Given the description of an element on the screen output the (x, y) to click on. 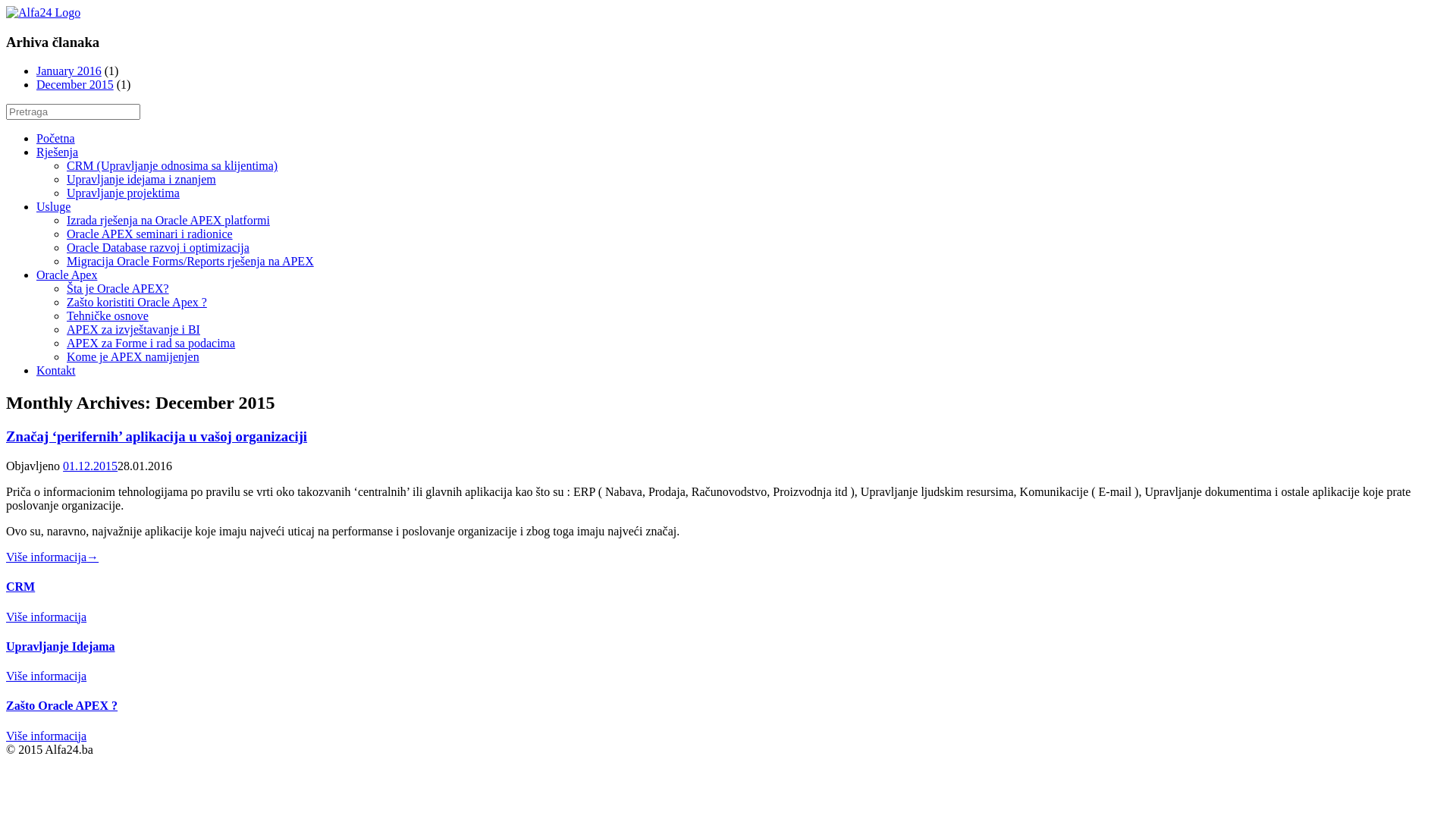
01.12.2015 Element type: text (89, 465)
APEX za Forme i rad sa podacima Element type: text (150, 342)
Oracle APEX seminari i radionice Element type: text (149, 233)
Kontakt Element type: text (55, 370)
Usluge Element type: text (53, 206)
Oracle Database razvoj i optimizacija Element type: text (157, 247)
Upravljanje Idejama Element type: text (727, 661)
January 2016 Element type: text (68, 70)
Oracle Apex Element type: text (66, 274)
Alfa24 Element type: hover (43, 12)
CRM (Upravljanje odnosima sa klijentima) Element type: text (171, 165)
Kome je APEX namijenjen Element type: text (132, 356)
Upravljanje projektima Element type: text (122, 192)
December 2015 Element type: text (74, 84)
CRM Element type: text (727, 601)
Upravljanje idejama i znanjem Element type: text (141, 178)
